Given the description of an element on the screen output the (x, y) to click on. 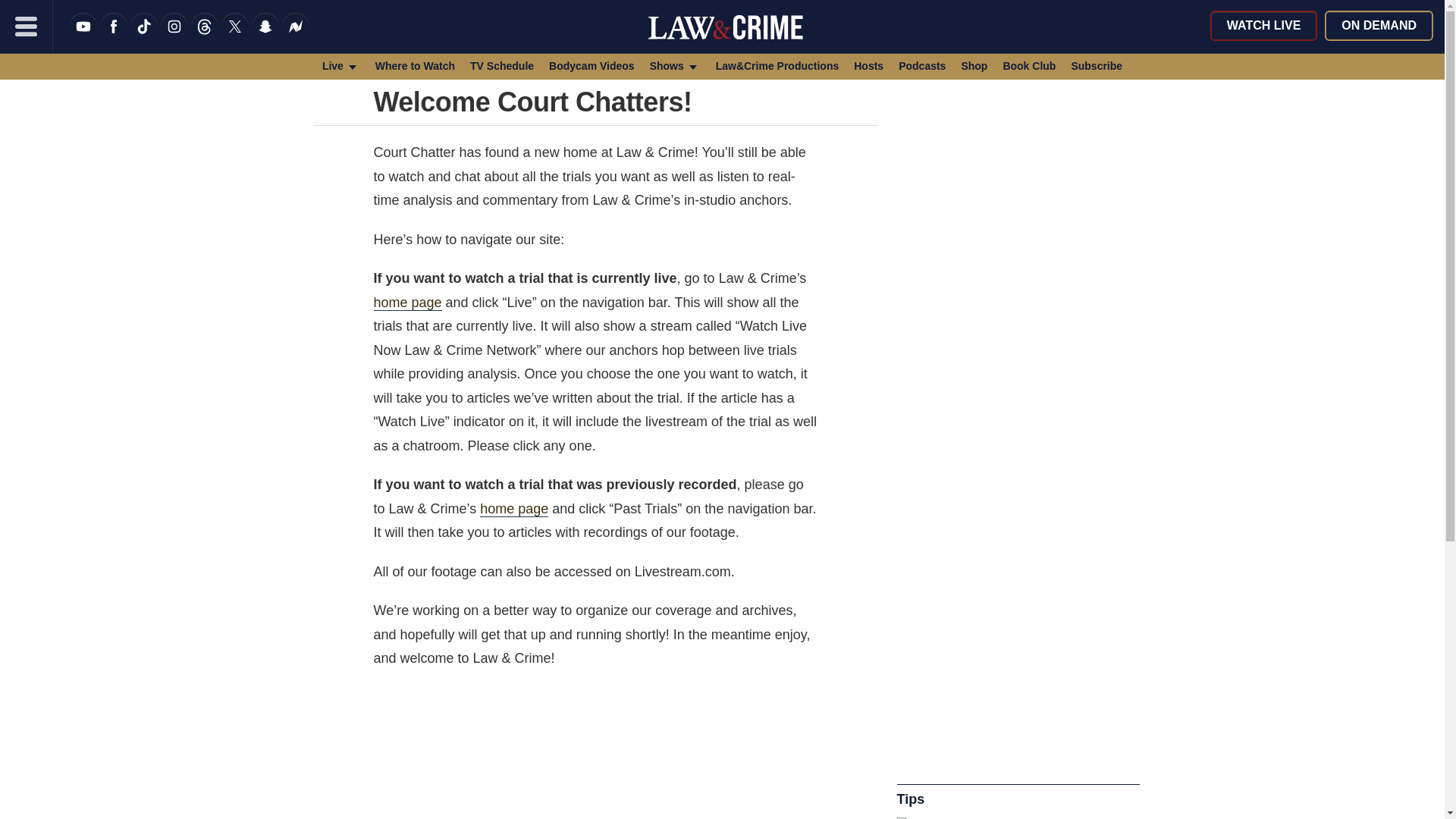
Threads (204, 35)
Like us on Facebook (114, 35)
Snapchat (265, 35)
Instagram (173, 35)
News Break (295, 35)
YouTube (83, 35)
TikTok (144, 35)
